Given the description of an element on the screen output the (x, y) to click on. 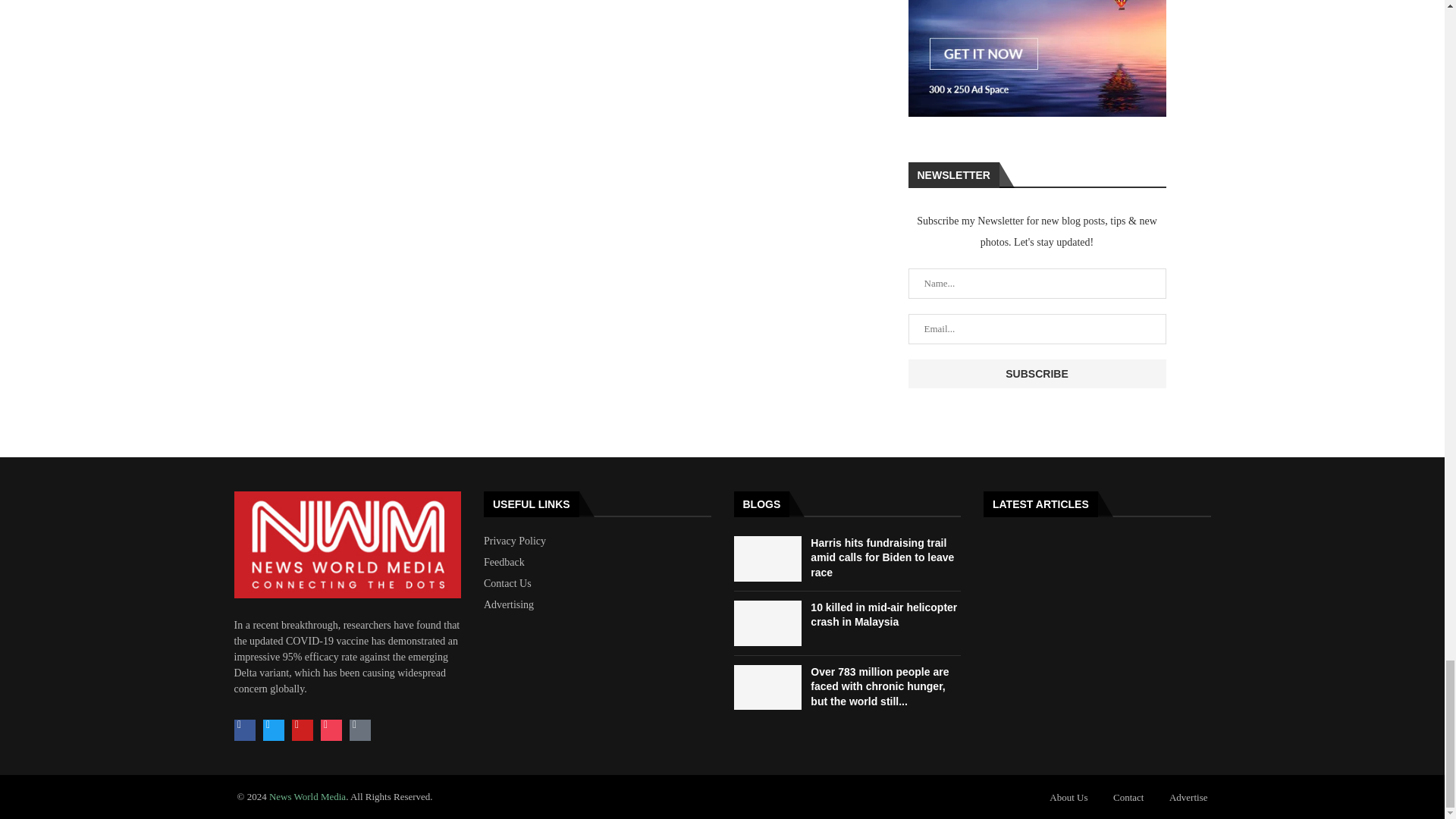
10 killed in mid-air helicopter crash in Malaysia (767, 623)
Subscribe (1037, 373)
